Given the description of an element on the screen output the (x, y) to click on. 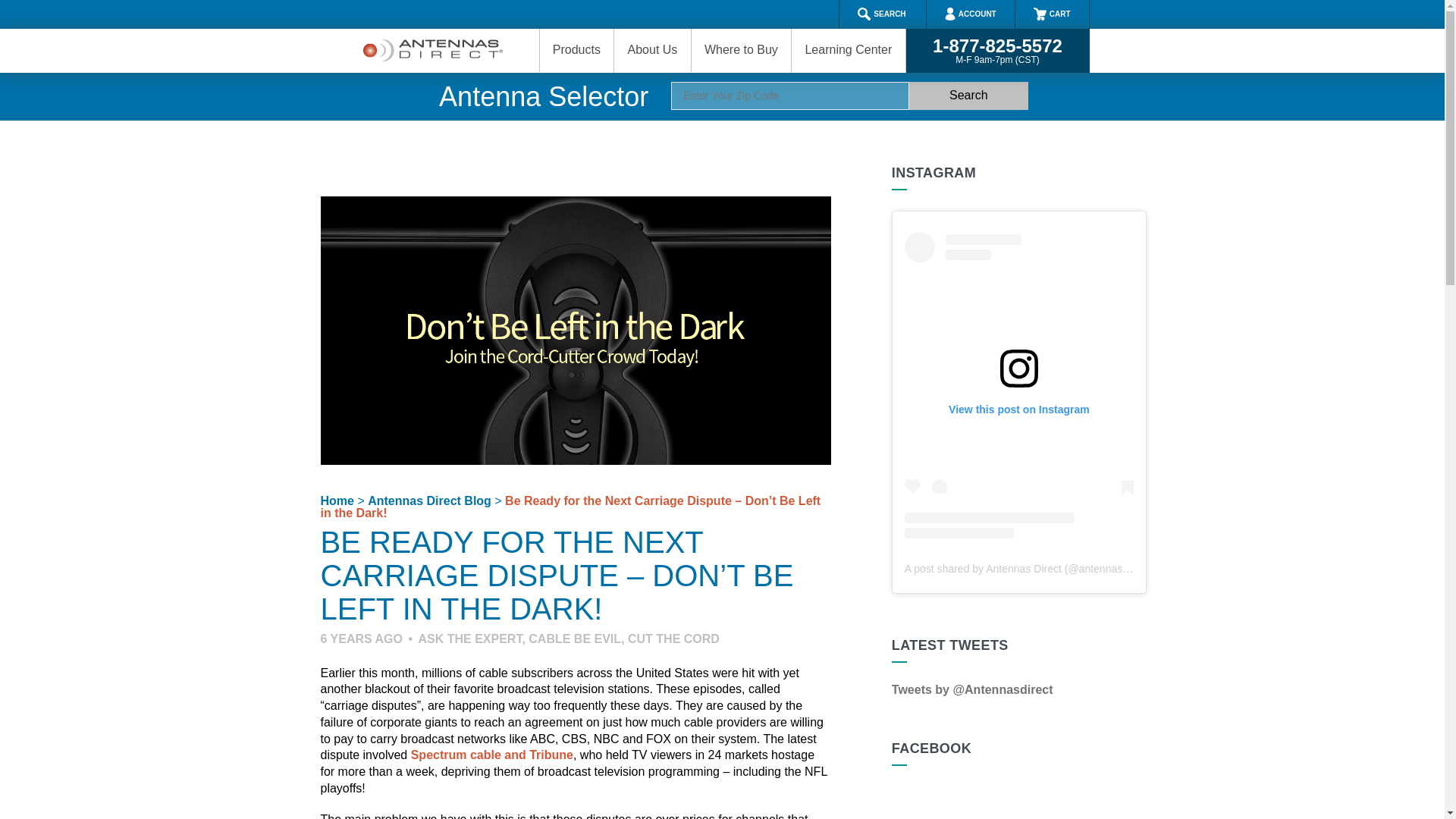
ACCOUNT (970, 14)
Fri, 25 Jan 2019 15:16:30 -0600 (360, 638)
Where to Buy (741, 50)
About Us (651, 50)
CART (1051, 14)
Products (575, 50)
SEARCH (880, 14)
Search (967, 95)
